Given the description of an element on the screen output the (x, y) to click on. 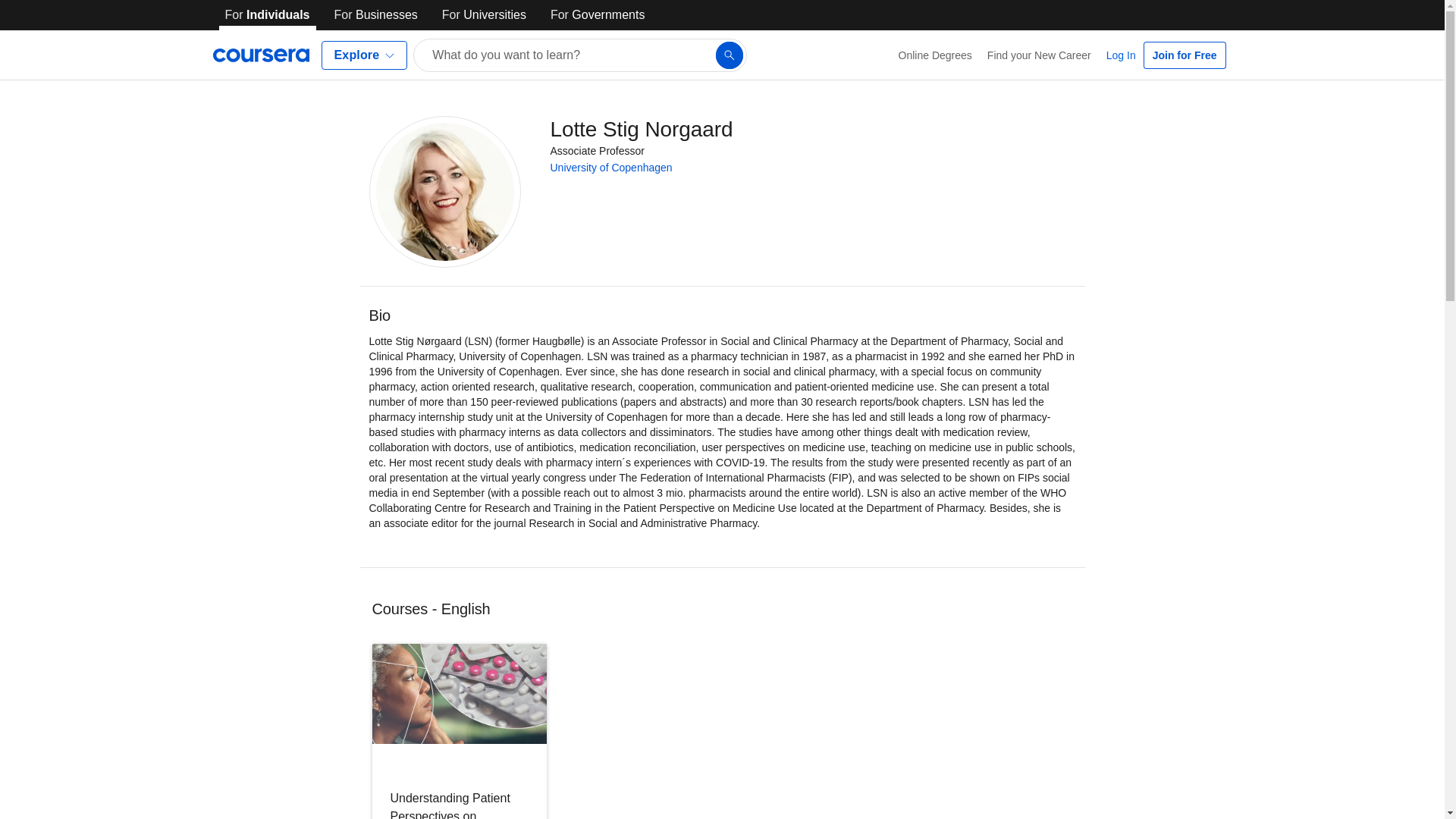
Join for Free (1183, 53)
Online Degrees (935, 54)
For Individuals (266, 15)
Find your New Career (1039, 54)
Explore (364, 54)
University of Copenhagen (611, 167)
Understanding Patient Perspectives on Medications (449, 731)
For Universities (483, 15)
Log In (1120, 54)
For Governments (597, 15)
